Given the description of an element on the screen output the (x, y) to click on. 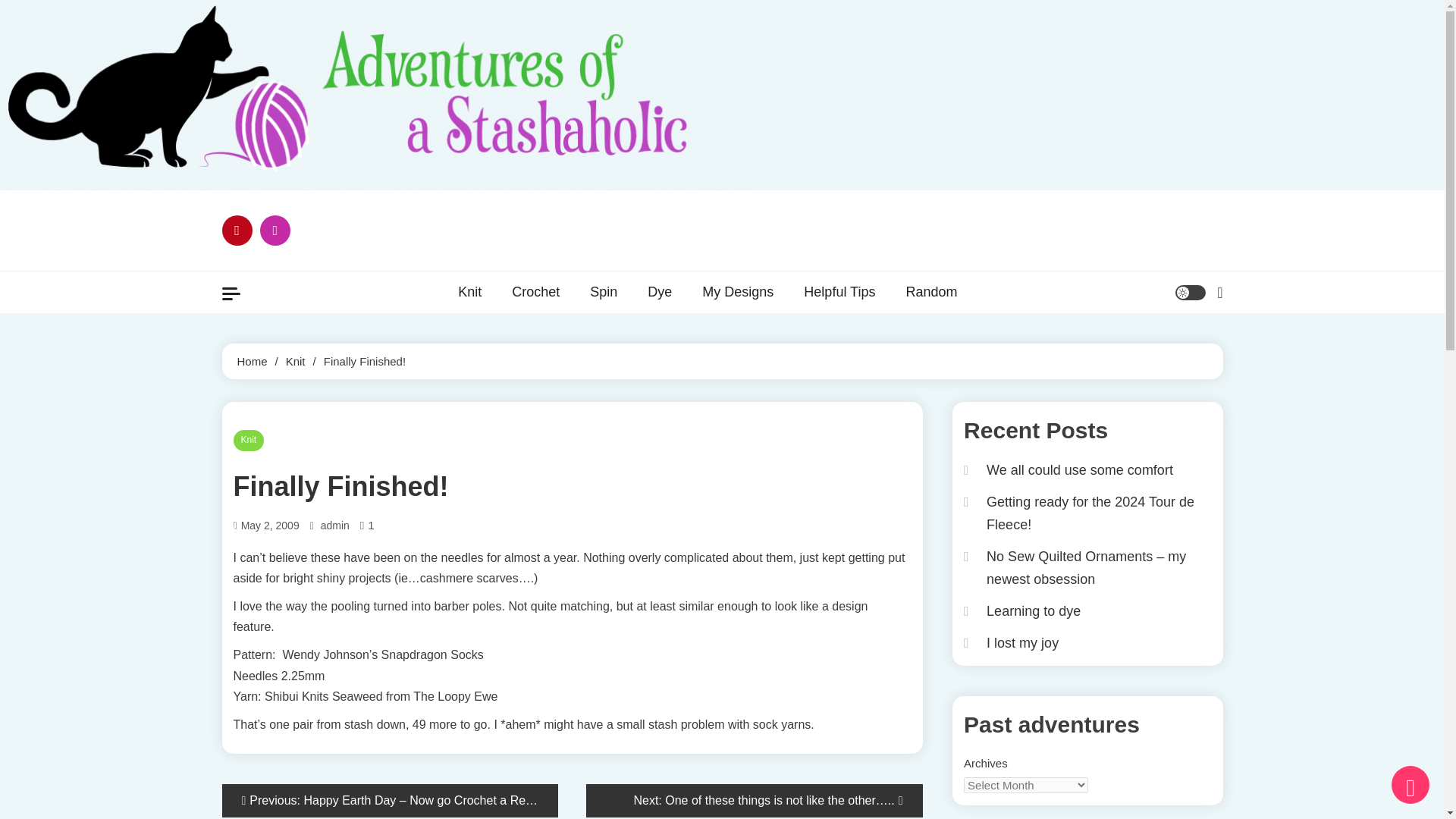
Random (930, 291)
site mode button (1189, 292)
Home (250, 360)
Dye (659, 291)
Adventures of a Stashaholic (749, 247)
May 2, 2009 (270, 525)
My Designs (738, 291)
admin (334, 525)
Search (1180, 349)
Helpful Tips (839, 291)
Knit (295, 360)
Spin (603, 291)
Knit (248, 440)
Knit (469, 291)
Crochet (535, 291)
